Given the description of an element on the screen output the (x, y) to click on. 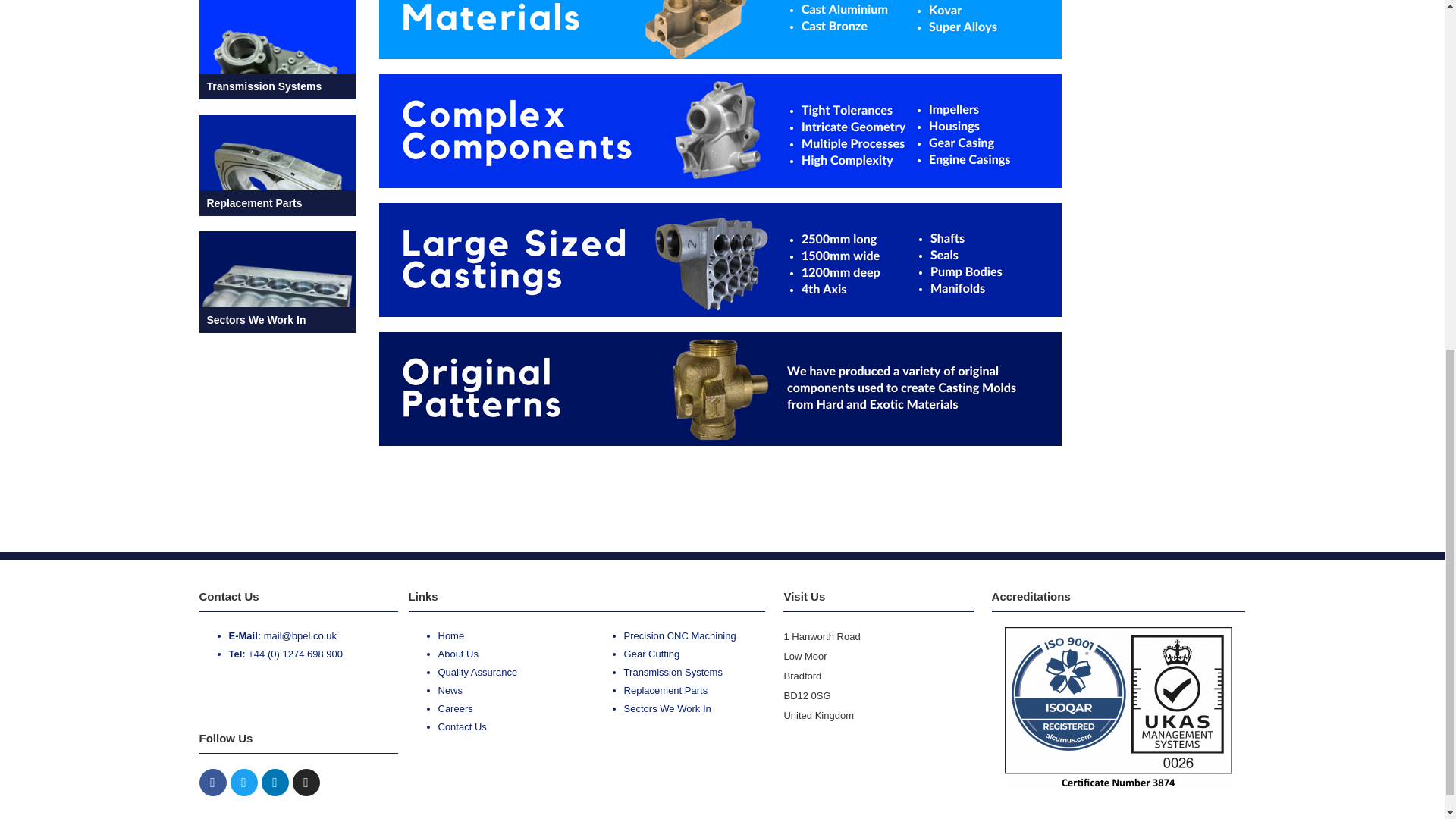
Precision CNC Machining (680, 635)
Contact Us (462, 726)
About Us (458, 654)
Replacement Parts (665, 690)
Home  (451, 635)
Quality Assurance (478, 672)
News (450, 690)
Sectors We Work In (667, 708)
Gear Cutting (651, 654)
Transmission Systems (673, 672)
